Given the description of an element on the screen output the (x, y) to click on. 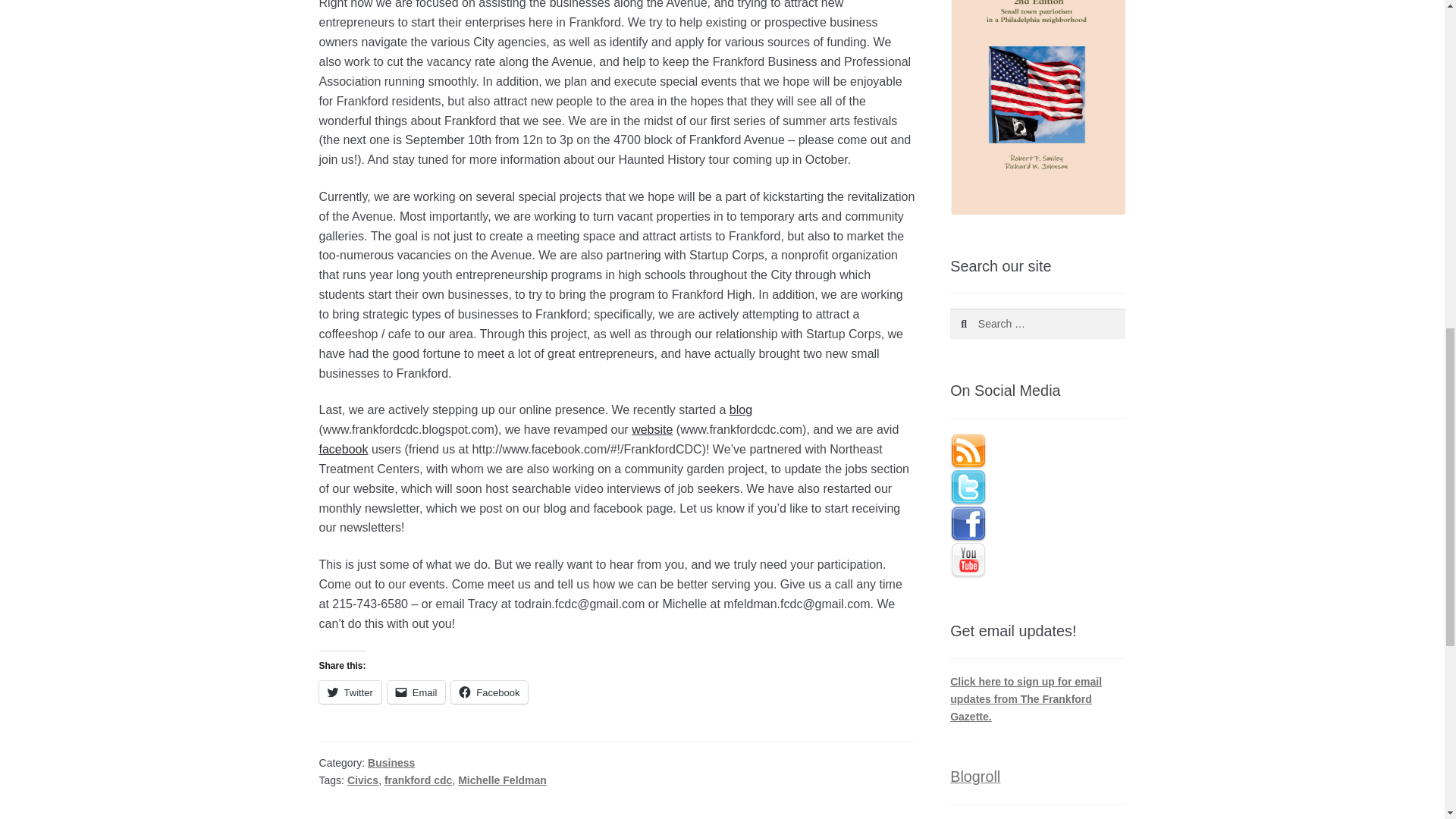
Twitter (349, 691)
Email (416, 691)
Click to share on Facebook (489, 691)
Click to email a link to a friend (416, 691)
Facebook (489, 691)
Click to share on Twitter (349, 691)
facebook (343, 449)
website (651, 429)
blog (740, 409)
